Given the description of an element on the screen output the (x, y) to click on. 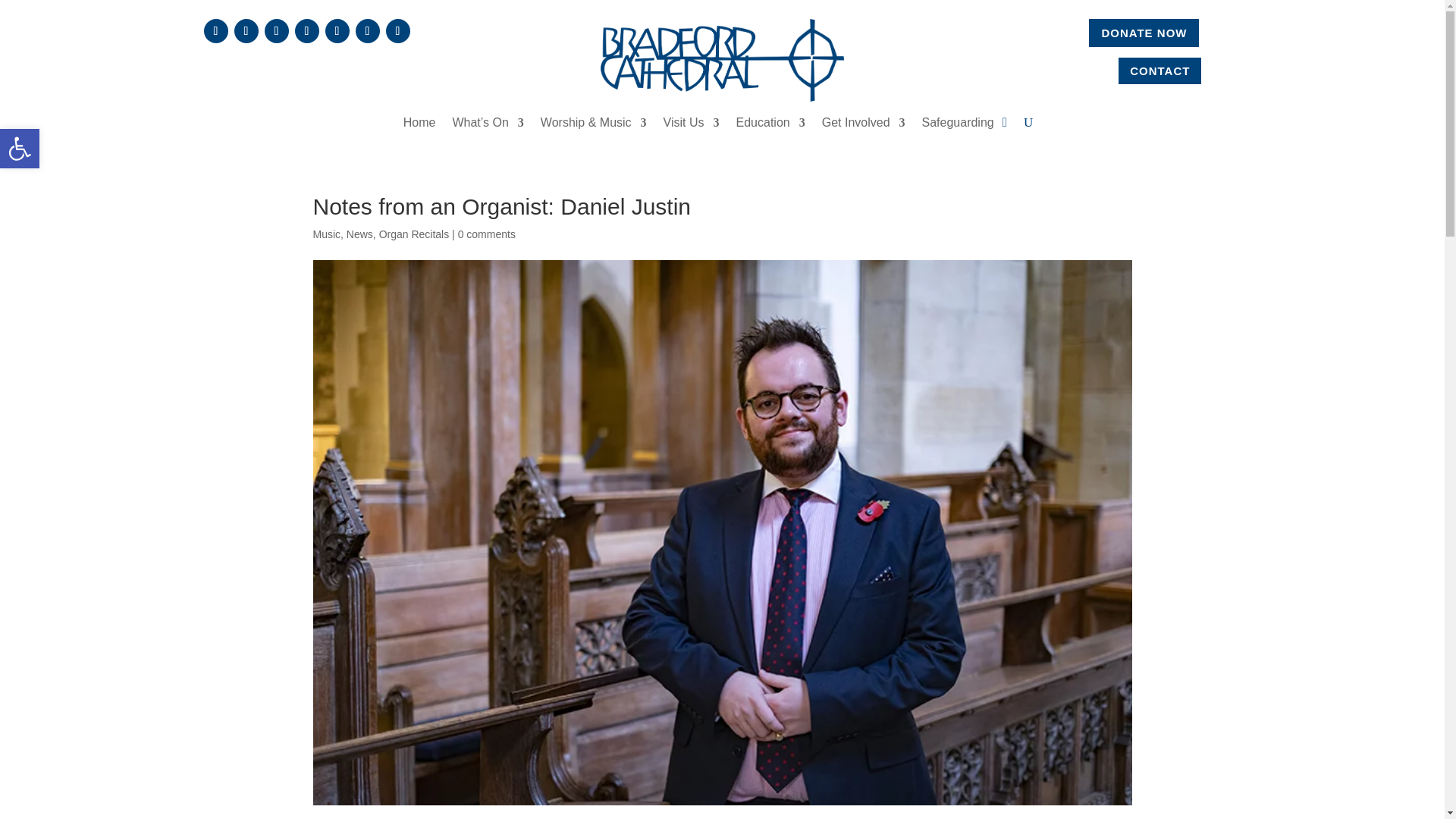
Accessibility Tools (19, 148)
Follow on X (244, 30)
Bradford Cathedral logo in blue. (721, 59)
Follow on Facebook (215, 30)
Follow on SoundCloud (336, 30)
Follow on Youtube (306, 30)
Follow on Instagram (275, 30)
Follow on TripAdvisor (397, 30)
Accessibility Tools (19, 148)
